Given the description of an element on the screen output the (x, y) to click on. 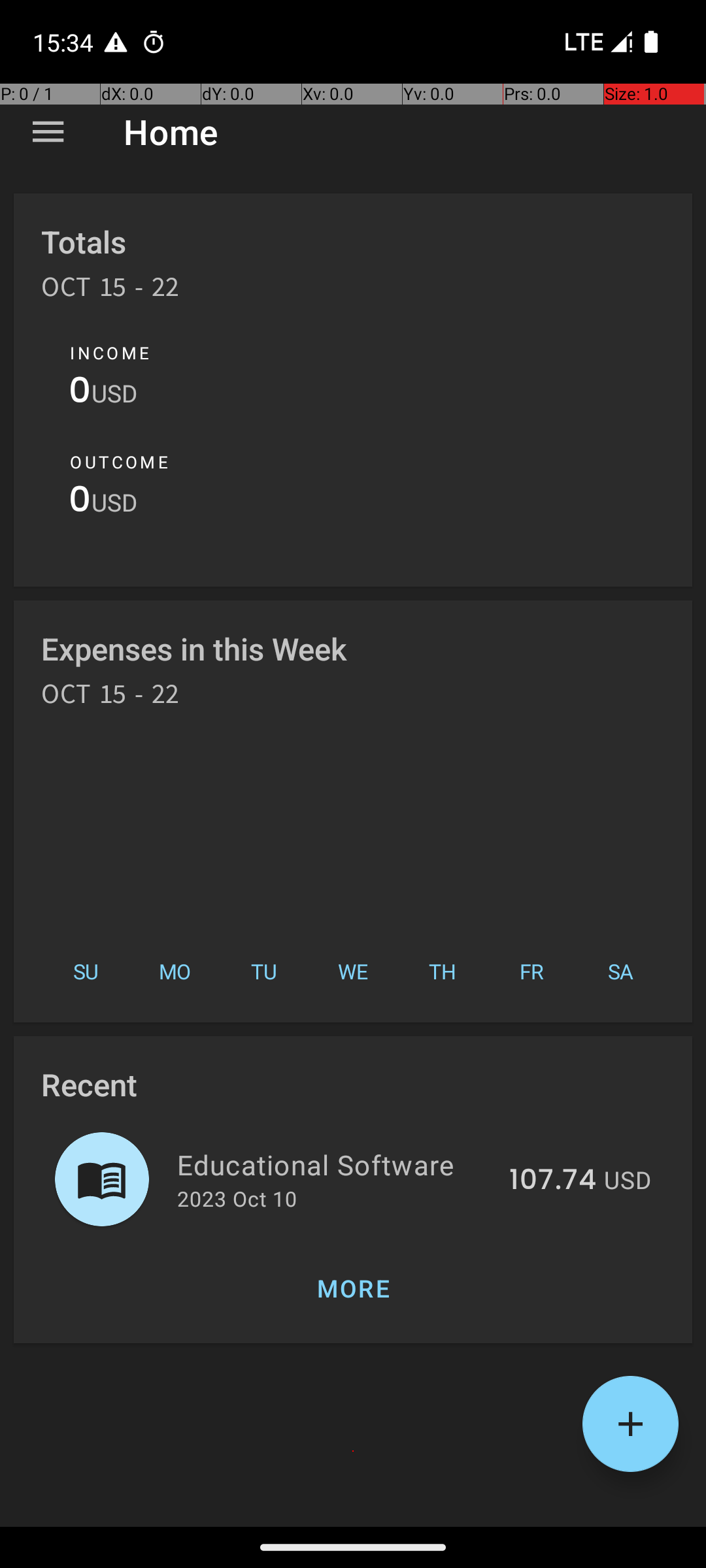
Educational Software Element type: android.widget.TextView (335, 1164)
107.74 Element type: android.widget.TextView (552, 1180)
